Given the description of an element on the screen output the (x, y) to click on. 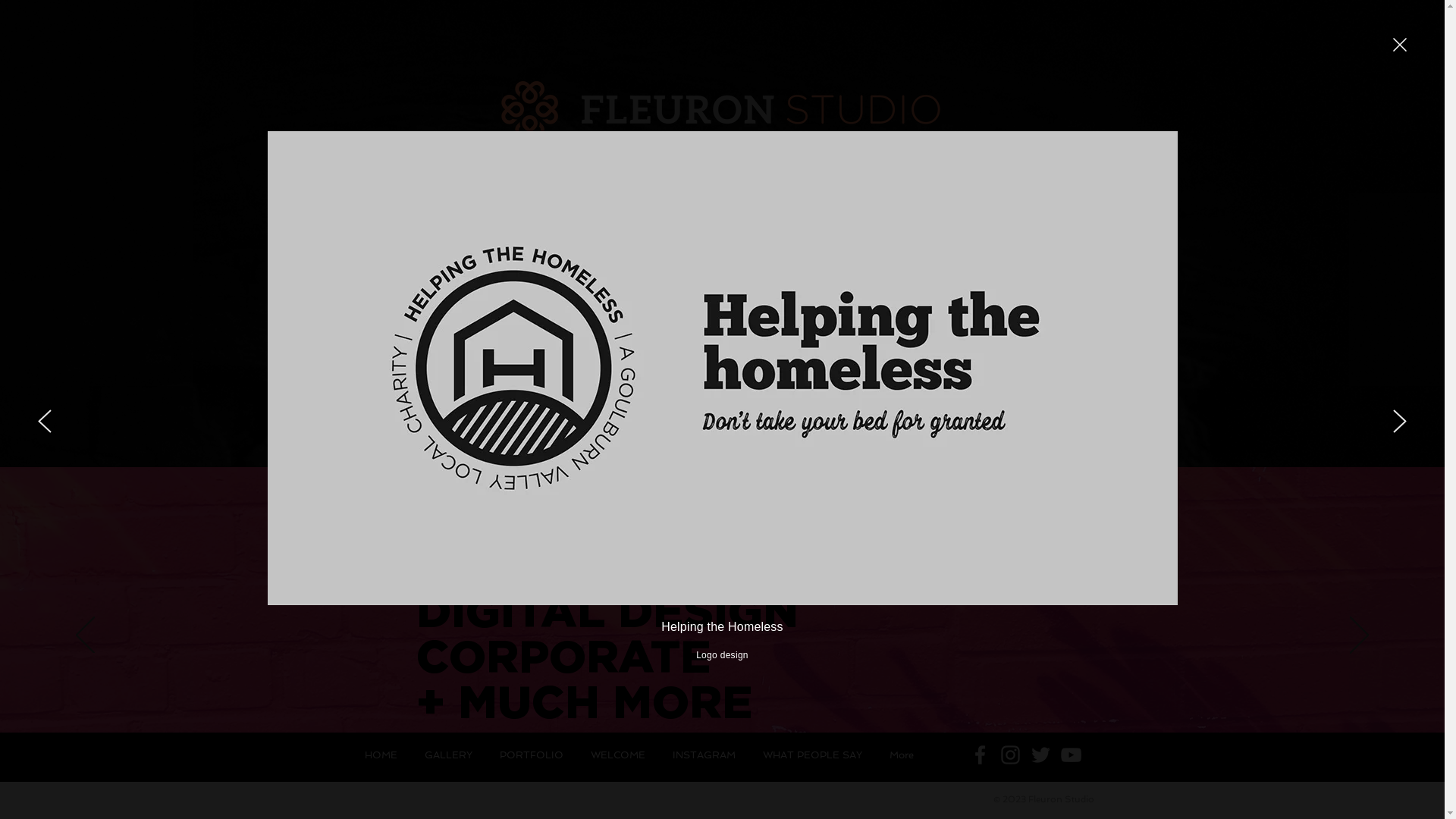
GALLERY Element type: text (448, 755)
WELCOME Element type: text (617, 755)
HOME Element type: text (380, 755)
INSTAGRAM Element type: text (703, 755)
PORTFOLIO Element type: text (530, 755)
WHAT PEOPLE SAY Element type: text (812, 755)
